Given the description of an element on the screen output the (x, y) to click on. 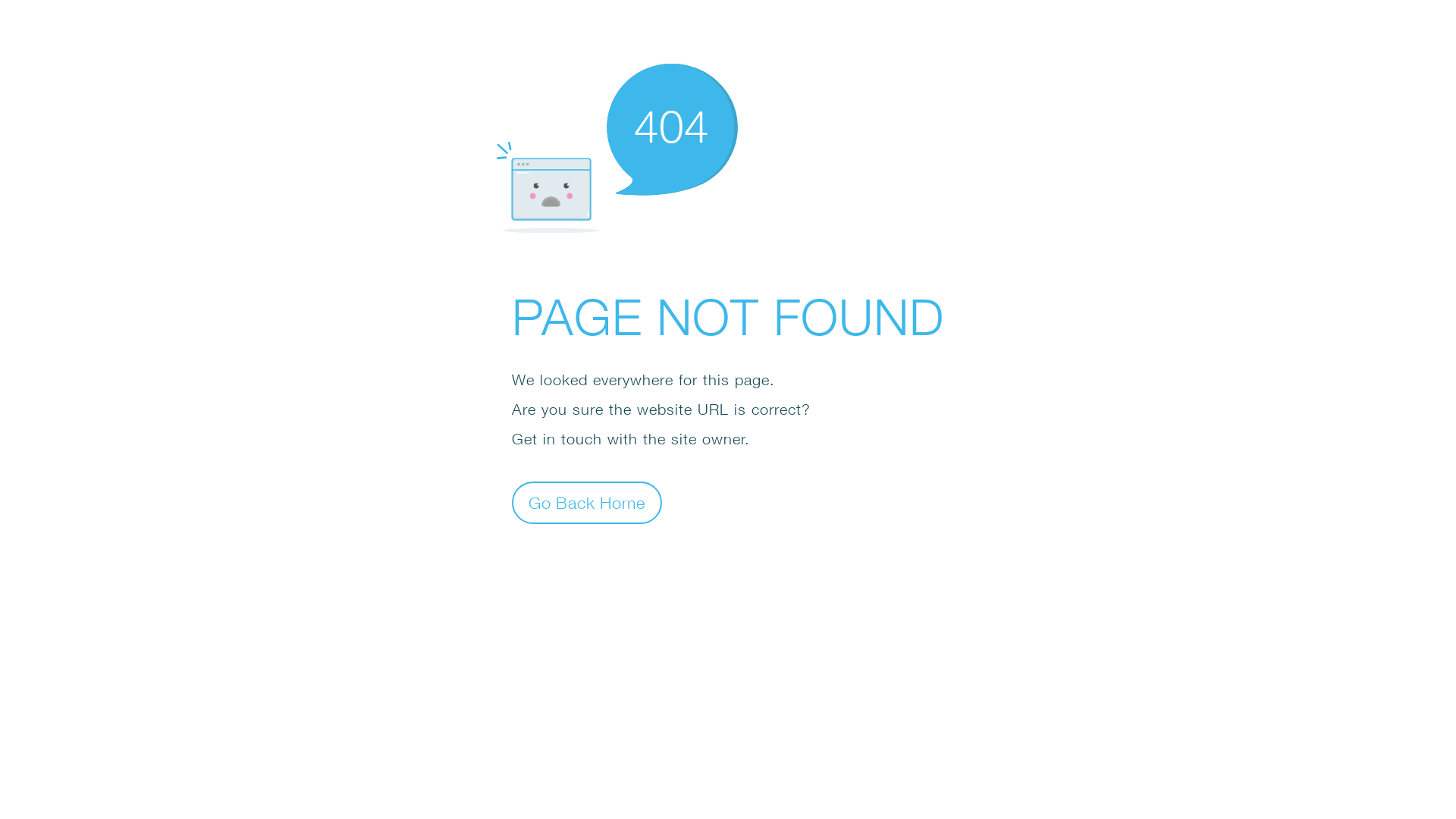
Go Back Home Element type: text (586, 502)
